Given the description of an element on the screen output the (x, y) to click on. 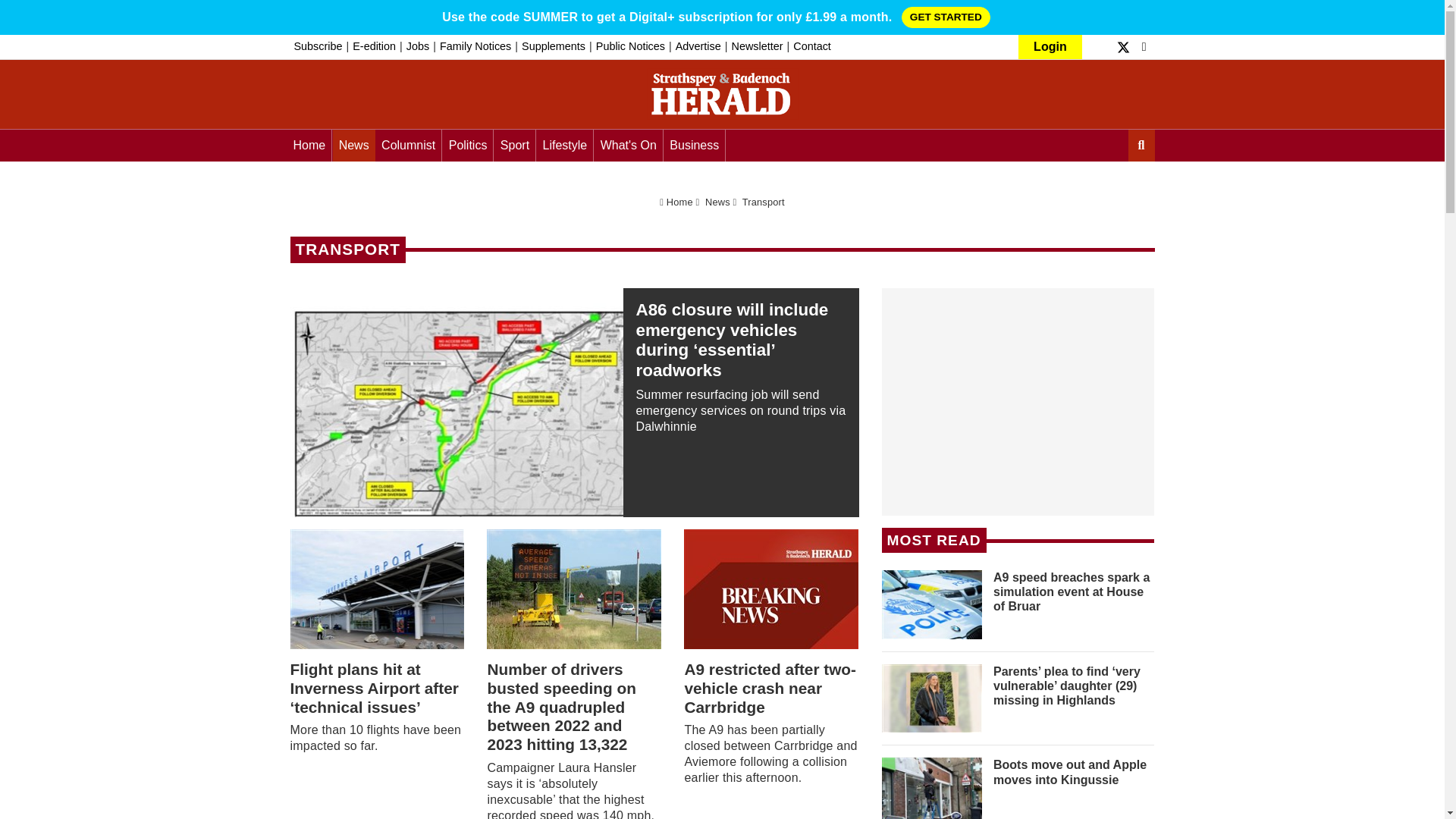
GET STARTED (945, 16)
